Given the description of an element on the screen output the (x, y) to click on. 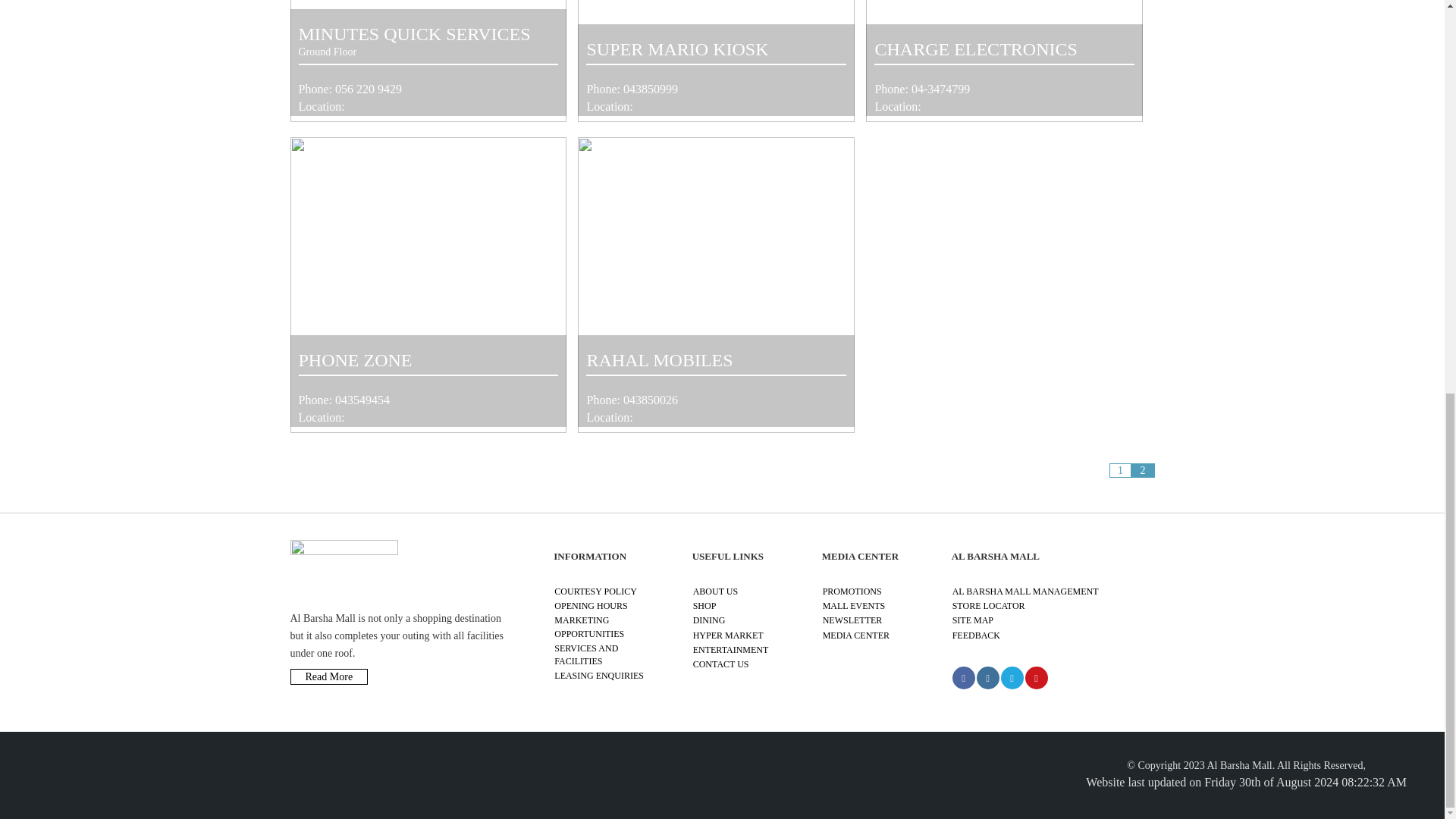
Entertainment (730, 649)
Opening Hours (590, 605)
NEWSLETTER (852, 620)
